Given the description of an element on the screen output the (x, y) to click on. 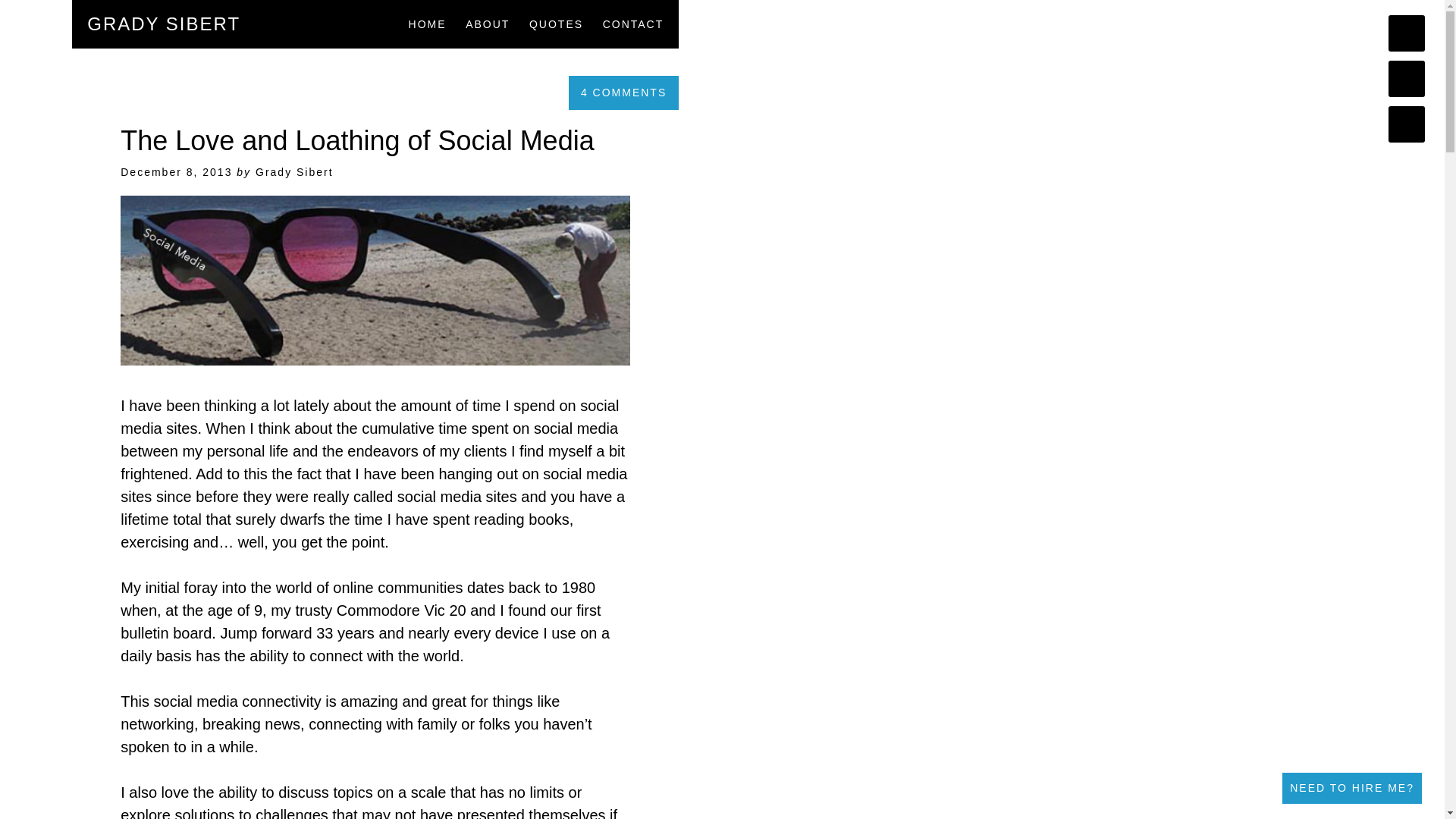
GRADY SIBERT (163, 23)
ABOUT (487, 23)
4 COMMENTS (623, 92)
CONTACT (632, 23)
Grady Sibert (294, 172)
HOME (427, 23)
NEED TO HIRE ME? (1352, 788)
QUOTES (556, 23)
